Given the description of an element on the screen output the (x, y) to click on. 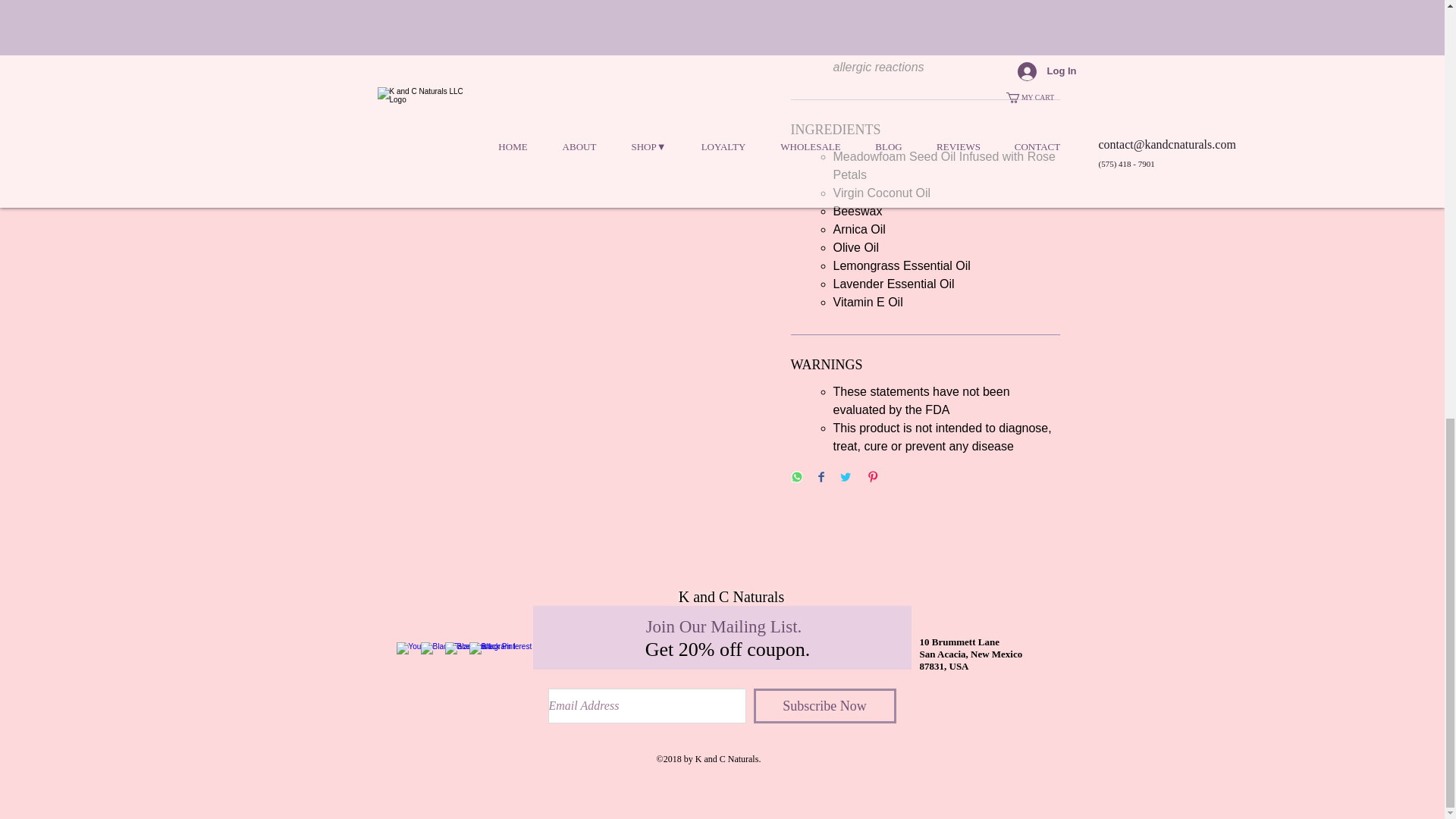
Subscribe Now (825, 705)
